Given the description of an element on the screen output the (x, y) to click on. 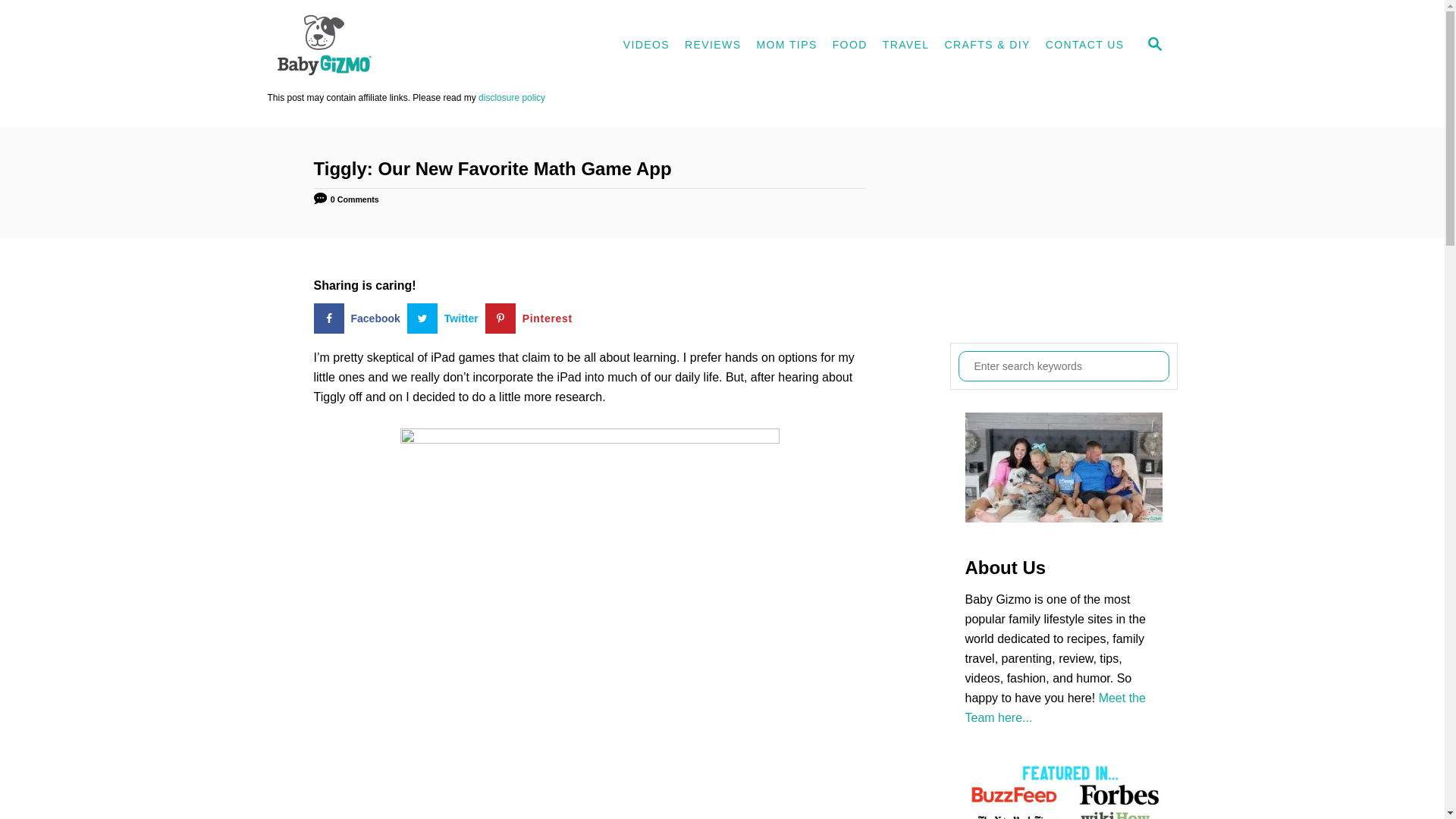
TRAVEL (906, 45)
REVIEWS (712, 45)
Share on Twitter (445, 318)
Save to Pinterest (531, 318)
Mom Tips (786, 45)
Share on Facebook (360, 318)
Search for: (1063, 365)
FOOD (850, 45)
MOM TIPS (786, 45)
Baby Gizmo (403, 45)
